Given the description of an element on the screen output the (x, y) to click on. 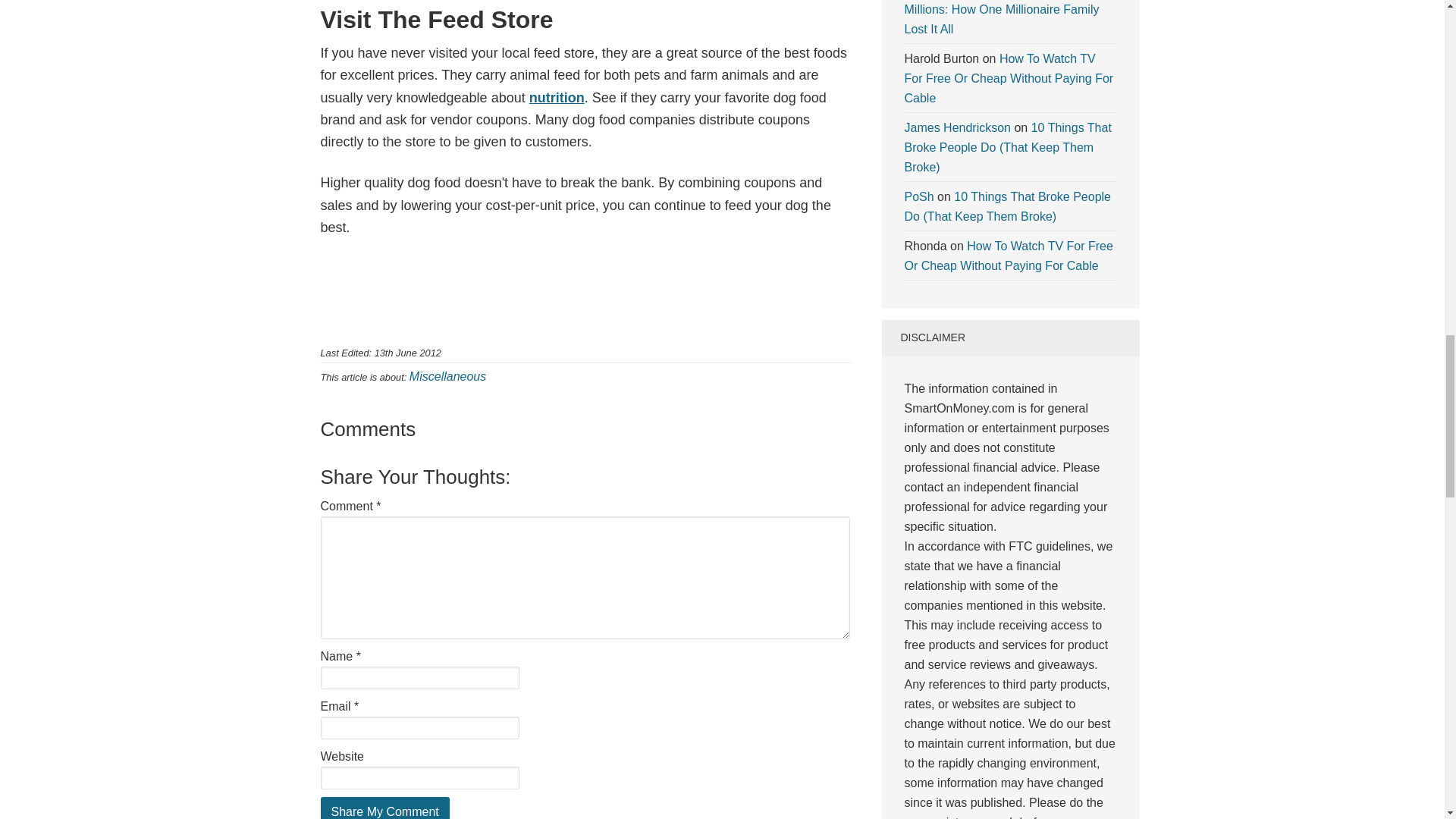
Share My Comment (384, 807)
nutrition (557, 97)
Share My Comment (384, 807)
Miscellaneous (447, 376)
